Given the description of an element on the screen output the (x, y) to click on. 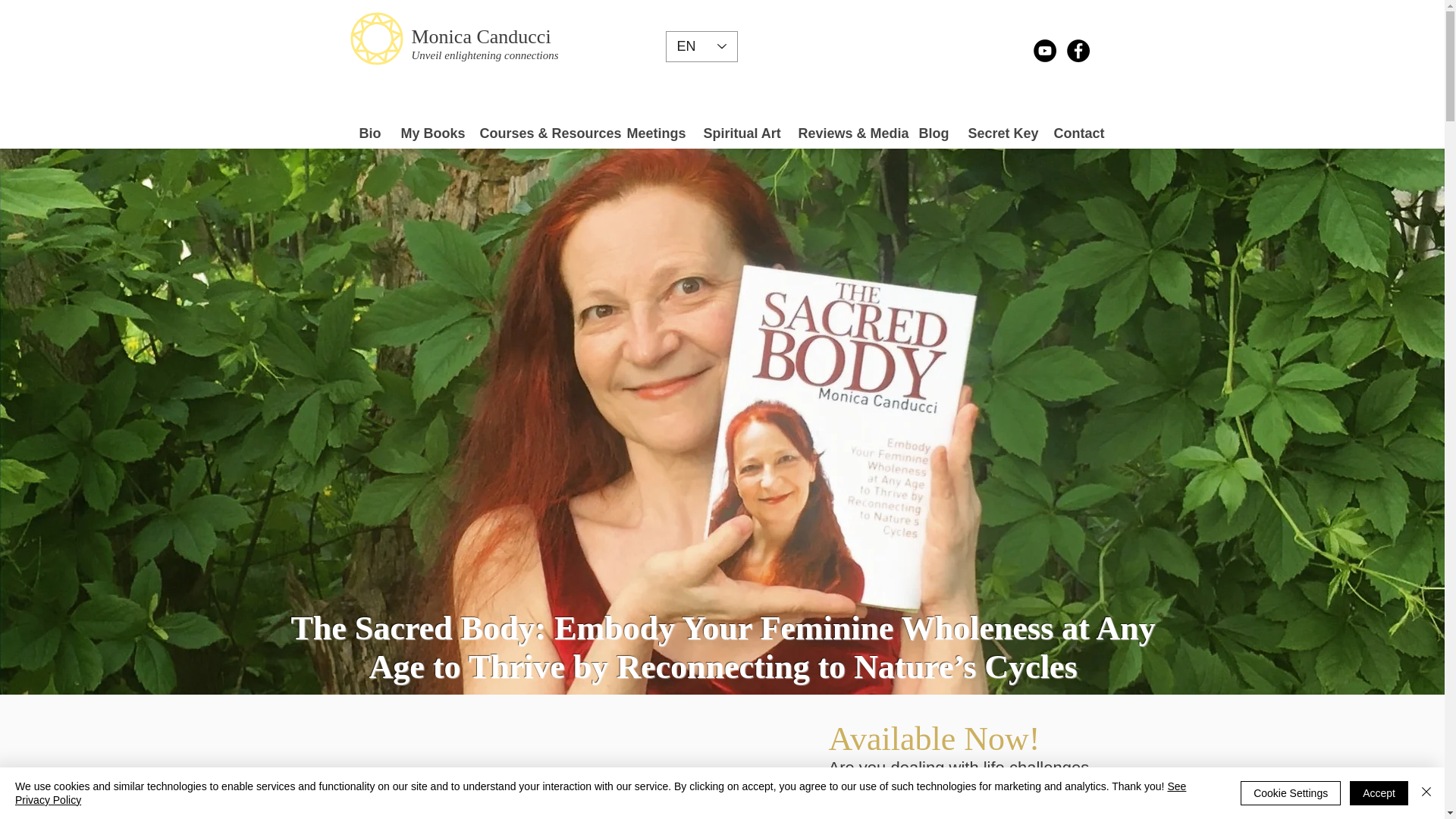
Secret Key (998, 132)
Bio (367, 132)
Blog (931, 132)
Contact (1075, 132)
See Privacy Policy (600, 792)
Meetings (652, 132)
My Books (427, 132)
Accept (1378, 793)
Monica Canducci (480, 36)
Spiritual Art (738, 132)
Cookie Settings (1290, 793)
Site Search (903, 50)
